Given the description of an element on the screen output the (x, y) to click on. 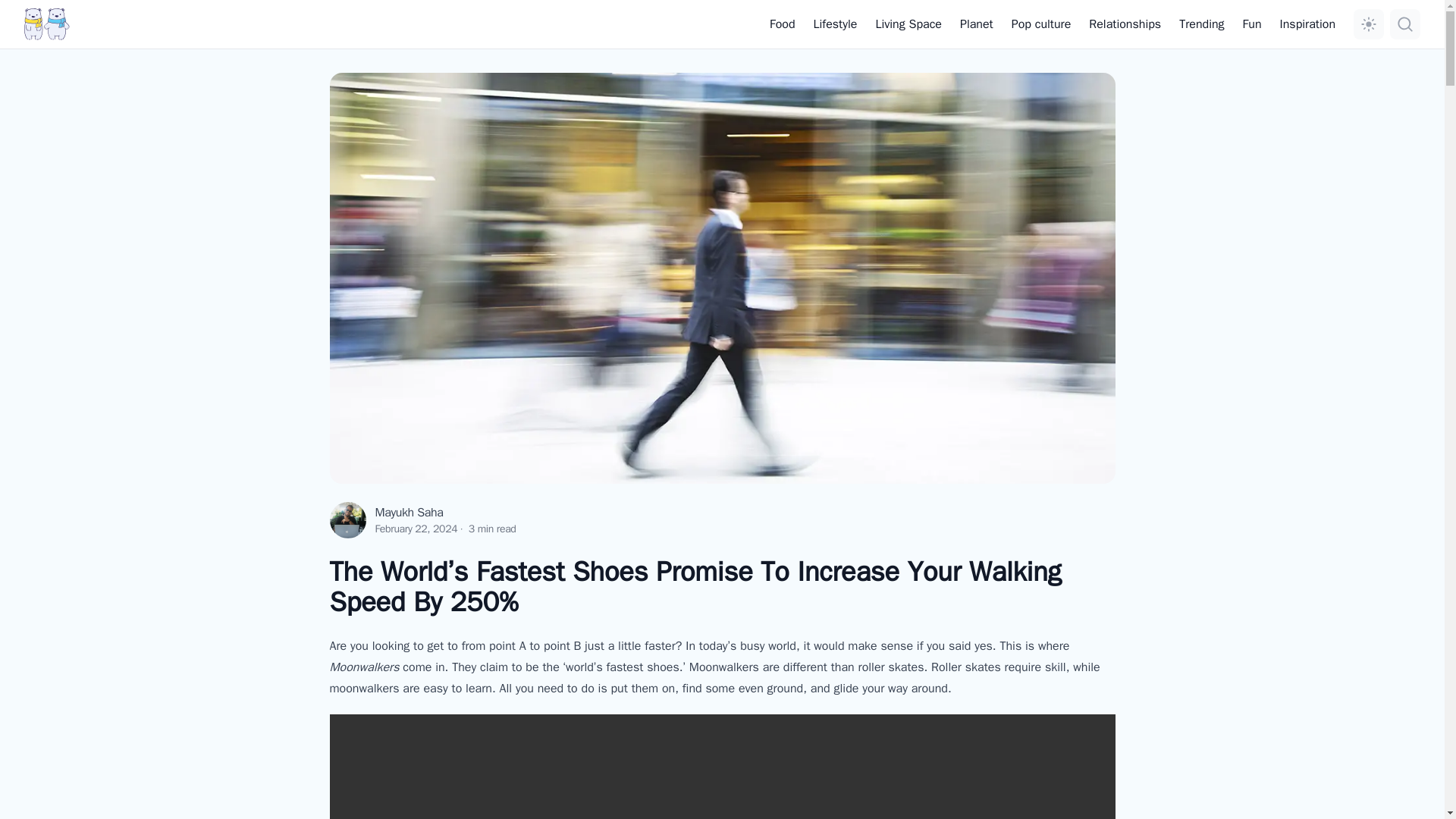
Relationships (1124, 23)
Pop culture (1041, 23)
Fun (1252, 23)
Living Space (908, 23)
Inspiration (1307, 23)
Mayukh Saha (408, 512)
Food (782, 23)
Planet (975, 23)
Trending (1201, 23)
Lifestyle (835, 23)
